Given the description of an element on the screen output the (x, y) to click on. 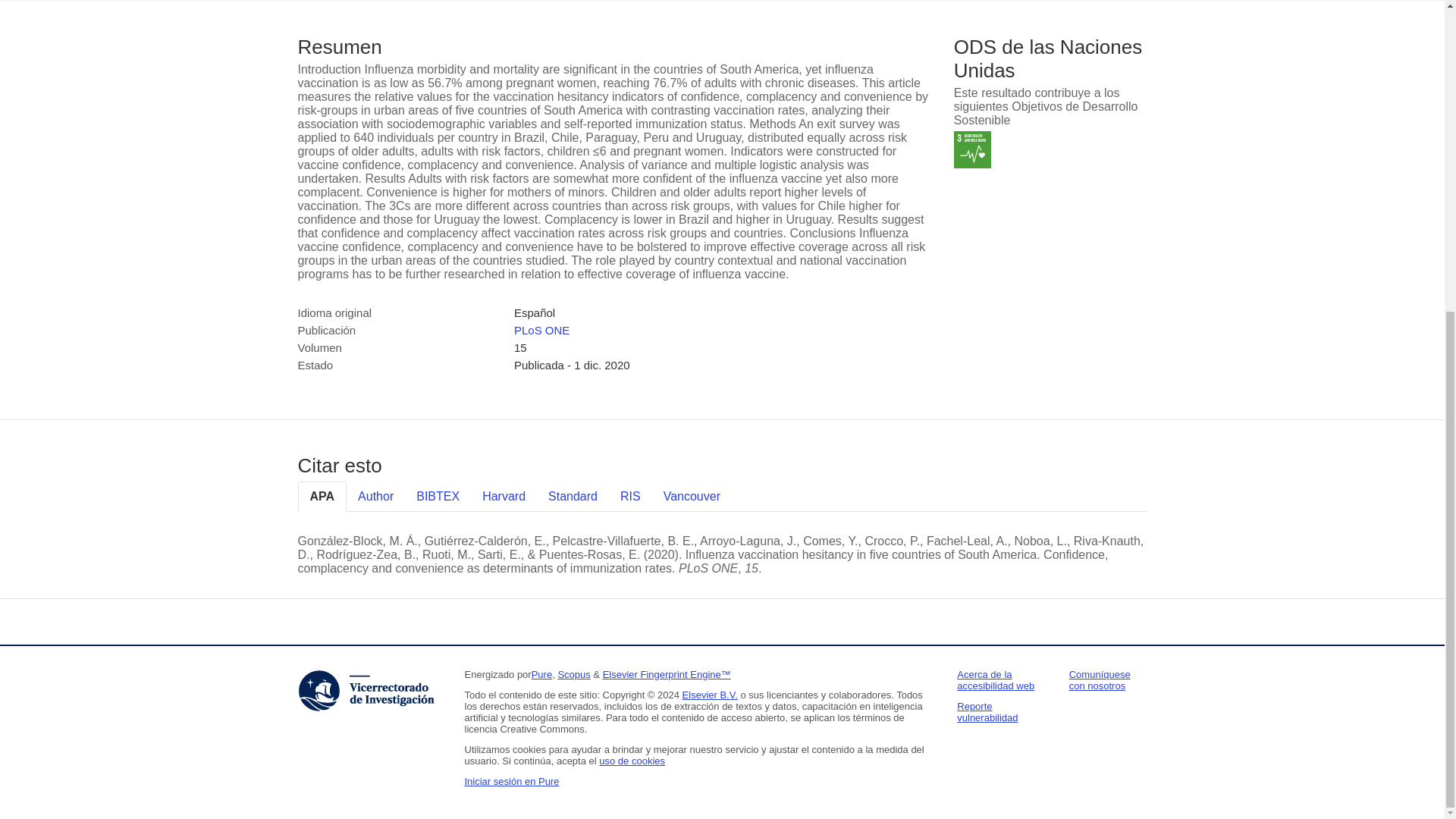
Pure (541, 674)
Elsevier B.V. (710, 695)
uso de cookies (631, 760)
Acerca de la accesibilidad web (994, 680)
Scopus (573, 674)
Reporte vulnerabilidad (986, 712)
PLoS ONE (541, 329)
